Given the description of an element on the screen output the (x, y) to click on. 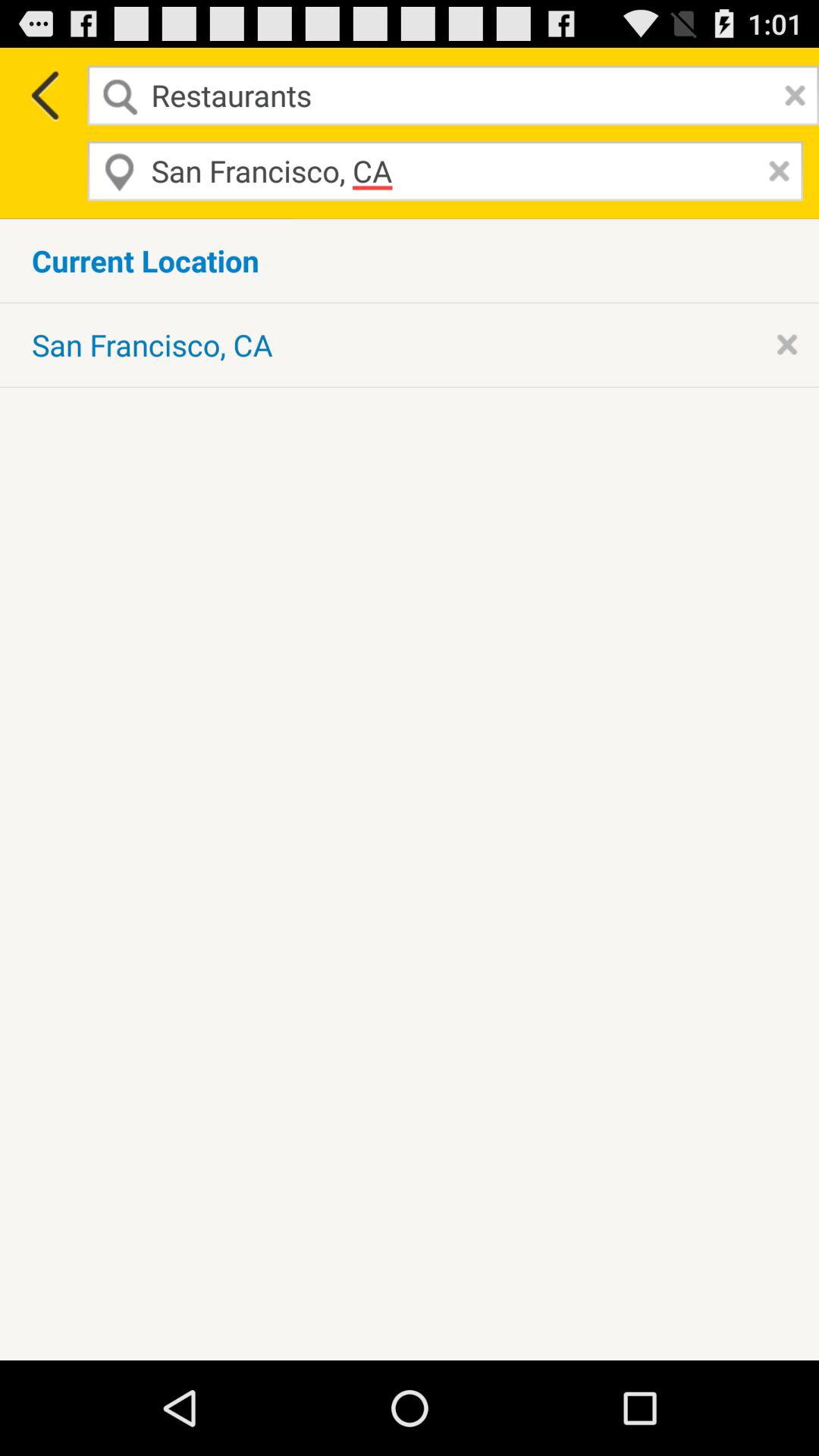
close this location (787, 344)
